Given the description of an element on the screen output the (x, y) to click on. 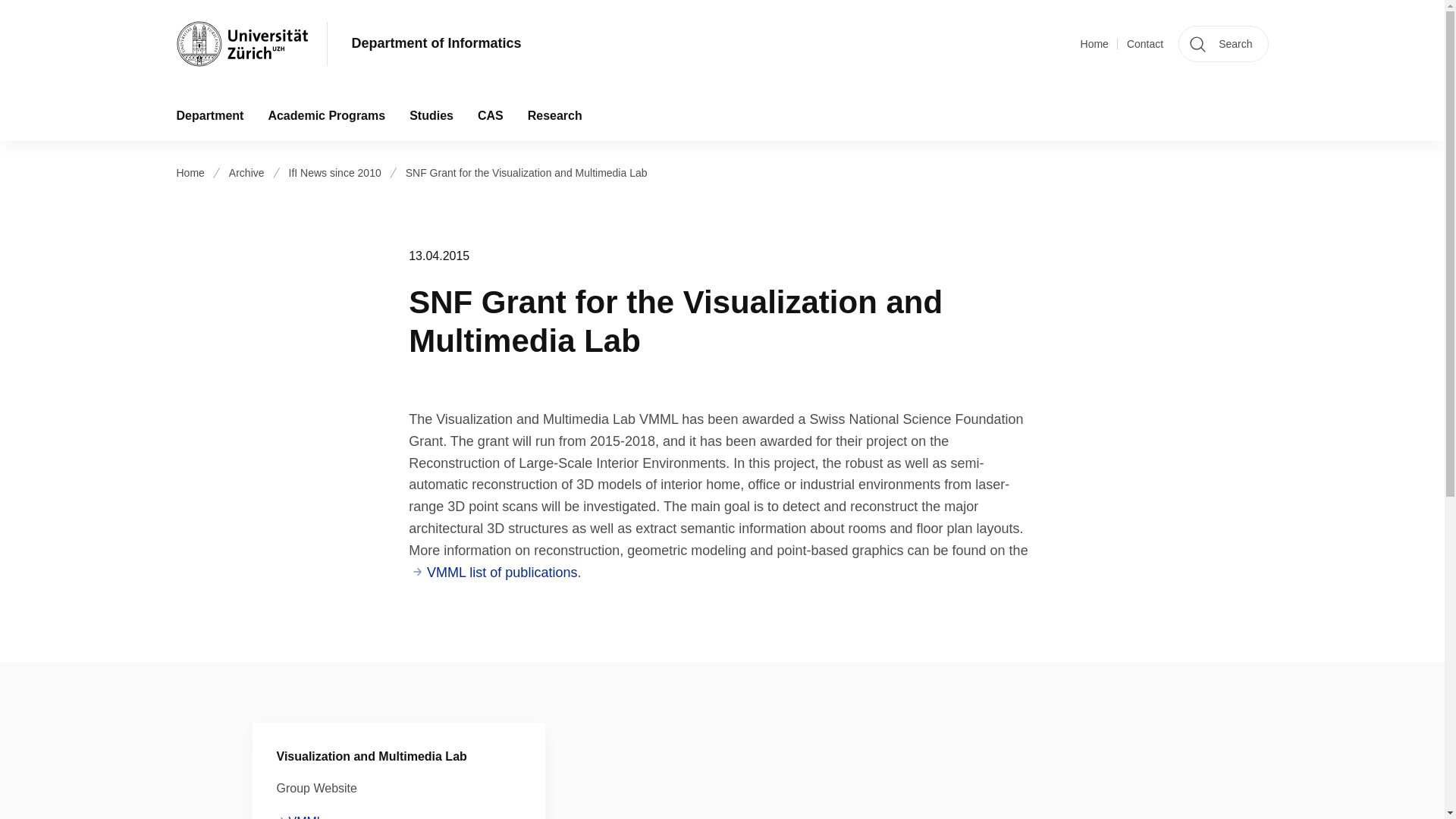
Department of Informatics (436, 43)
Search (1222, 43)
Department (209, 115)
Home (1094, 44)
Academic Programs (326, 115)
VMML (299, 815)
Contact (1144, 44)
